Given the description of an element on the screen output the (x, y) to click on. 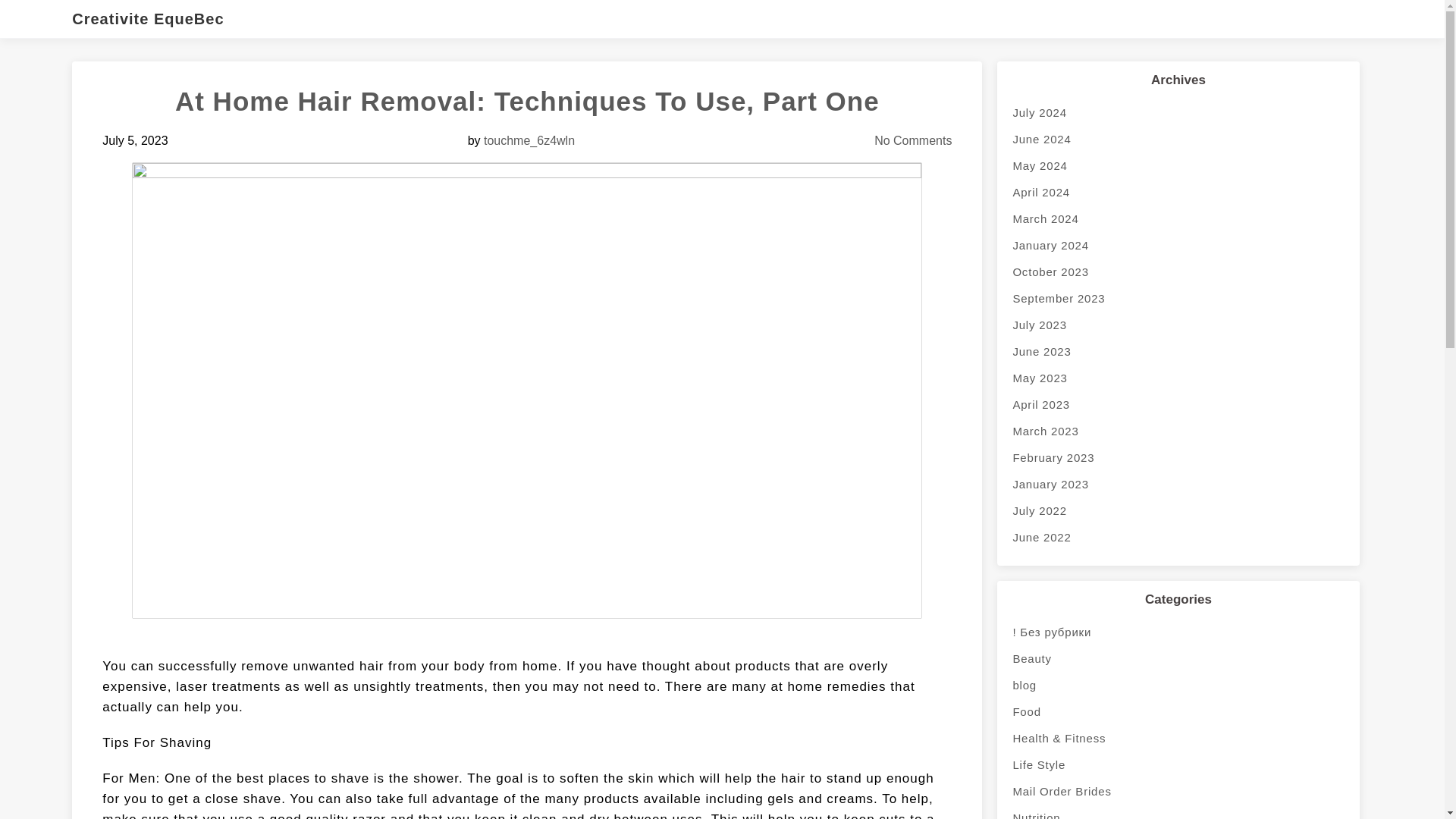
April 2023 (1177, 404)
Life Style (1177, 764)
September 2023 (1177, 298)
January 2024 (1177, 244)
Nutrition (1177, 811)
June 2024 (1177, 139)
April 2024 (1177, 192)
blog (1177, 684)
May 2023 (1177, 377)
July 2023 (1177, 325)
Mail Order Brides (1177, 791)
May 2024 (1177, 165)
June 2023 (1177, 351)
Food (1177, 711)
July 2024 (1177, 112)
